Given the description of an element on the screen output the (x, y) to click on. 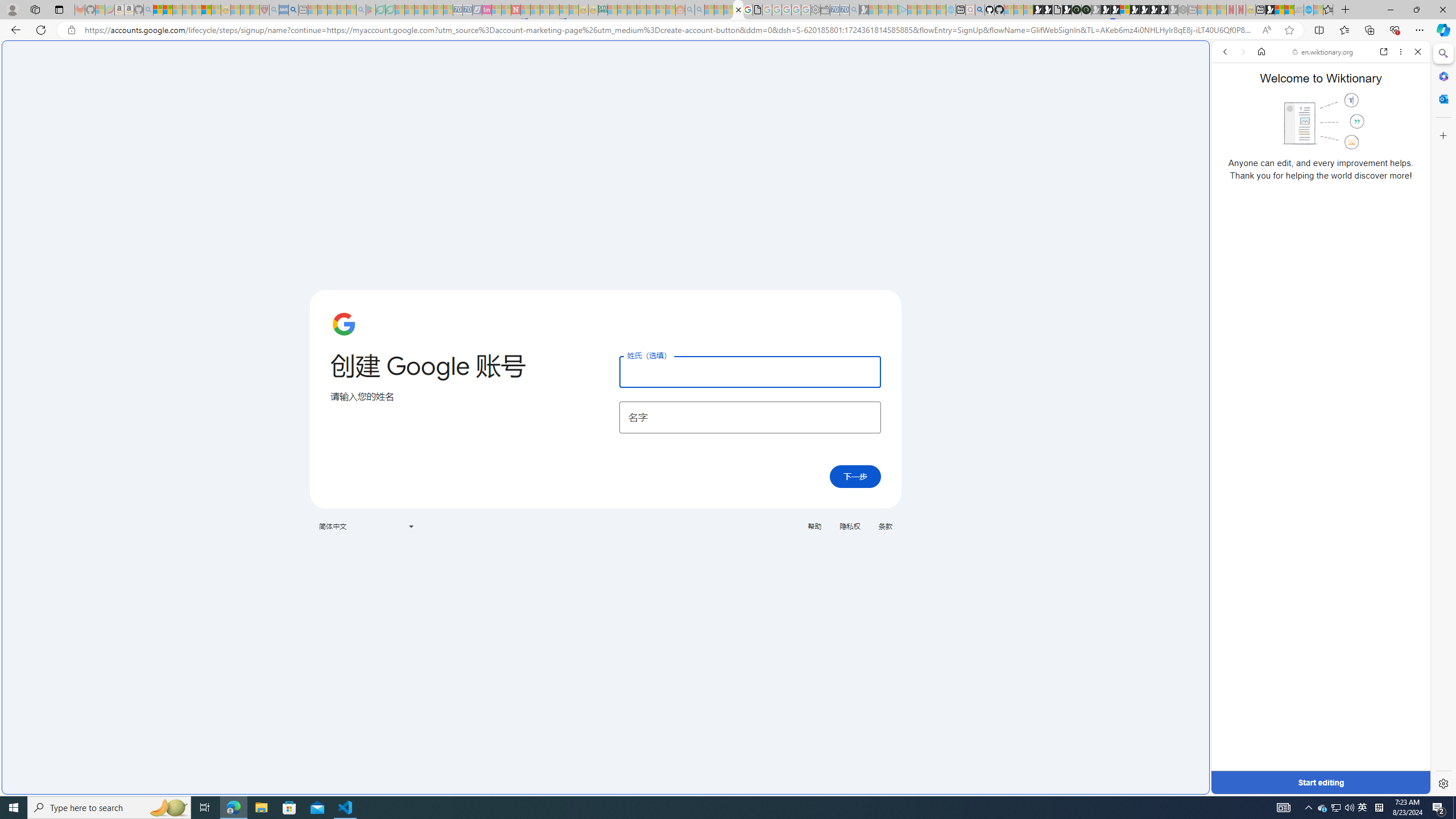
Frequently visited (965, 151)
Sign in to your account (1124, 9)
